Given the description of an element on the screen output the (x, y) to click on. 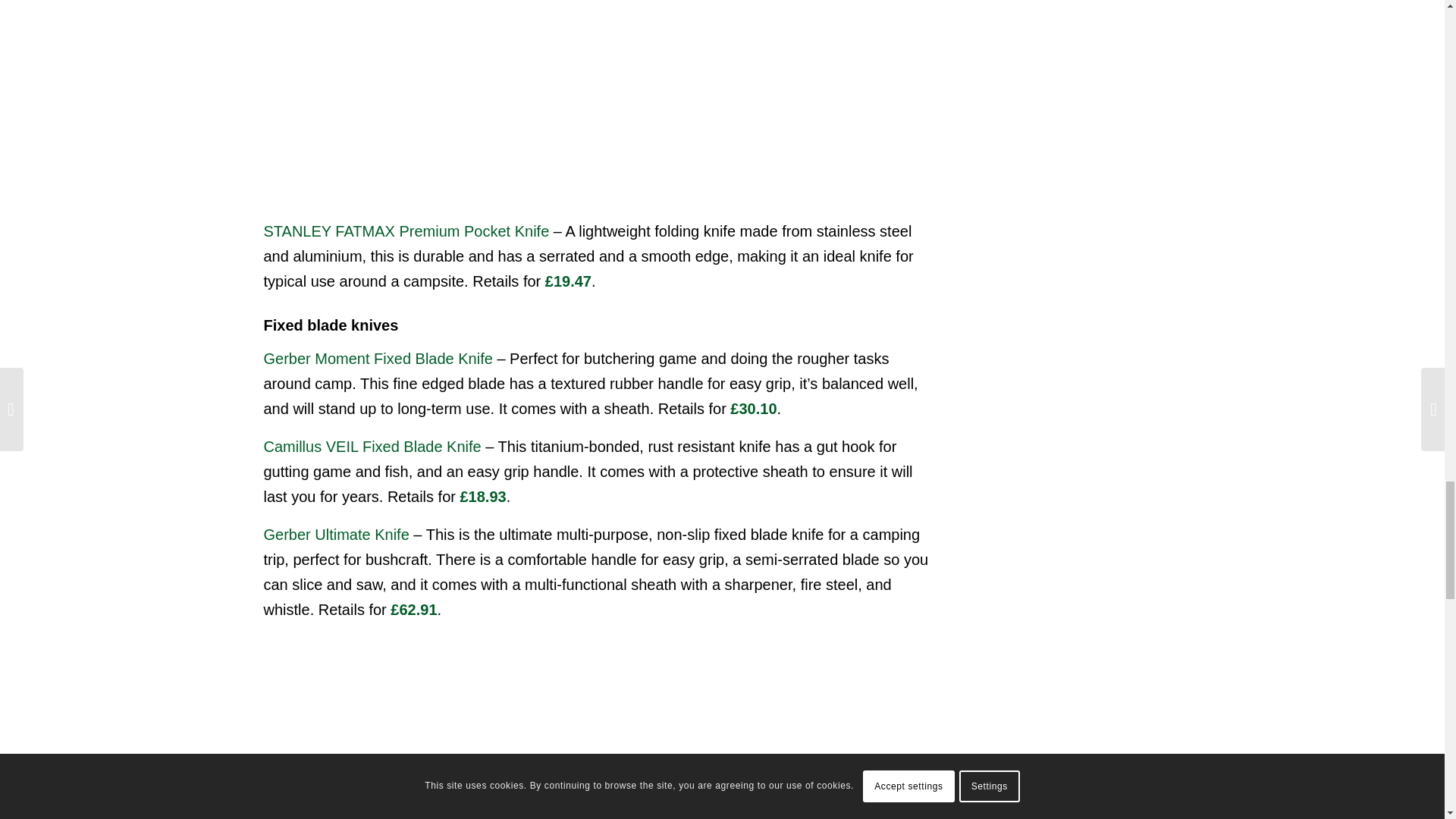
STANLEY FATMAX Premium Pocket Knife (406, 230)
Gerber Moment Fixed Blade Knife (378, 358)
Gerber Ultimate Knife (336, 534)
Camillus VEIL Fixed Blade Knife (372, 446)
